Given the description of an element on the screen output the (x, y) to click on. 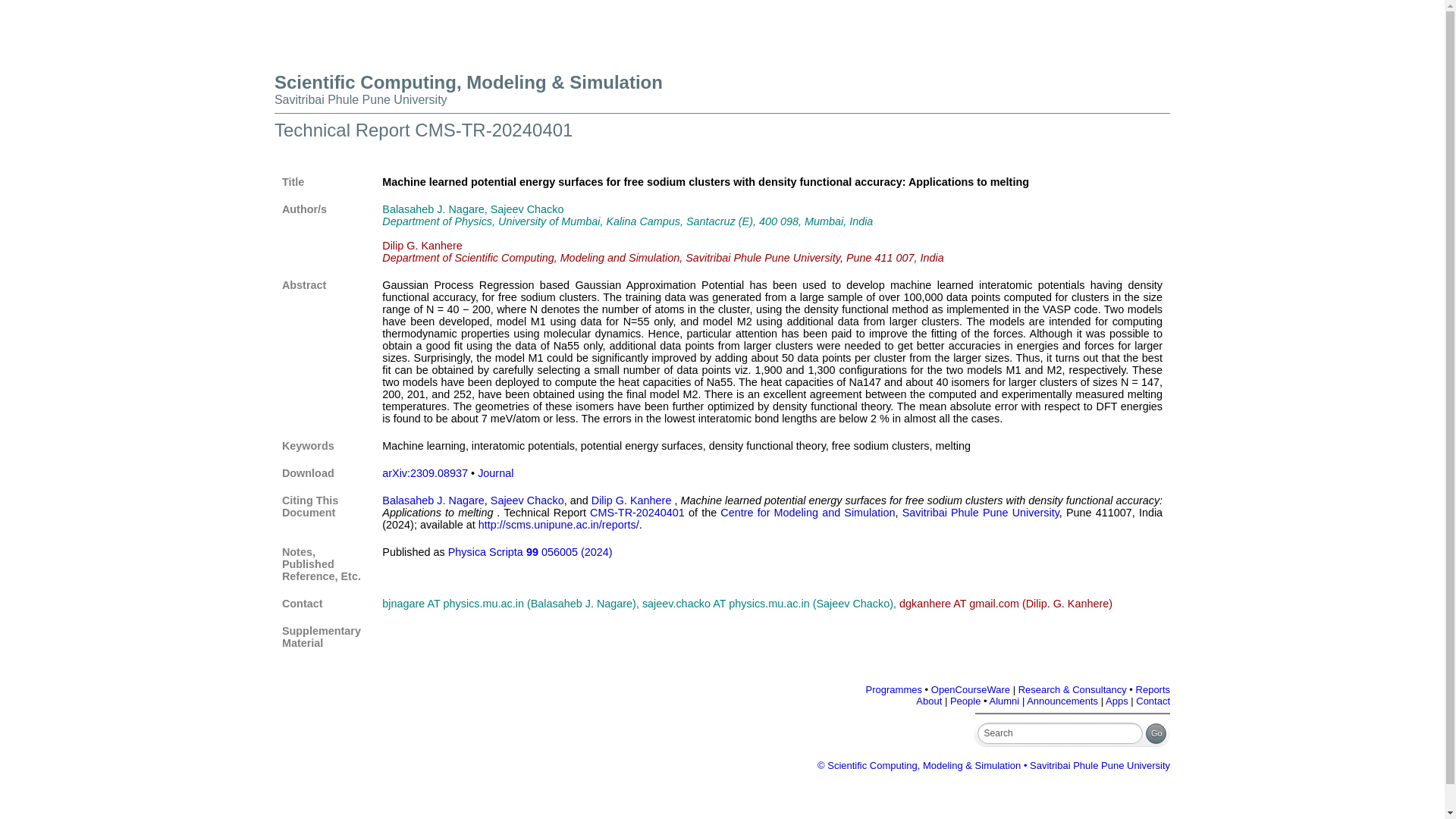
Journal (495, 472)
Centre for Modeling and Simulation (807, 512)
Balasaheb J. Nagare (432, 500)
Dilip G. Kanhere (631, 500)
Sajeev Chacko (527, 500)
arXiv:2309.08937 (424, 472)
Savitribai Phule Pune University (360, 99)
CMS-TR-20240401 (636, 512)
